Given the description of an element on the screen output the (x, y) to click on. 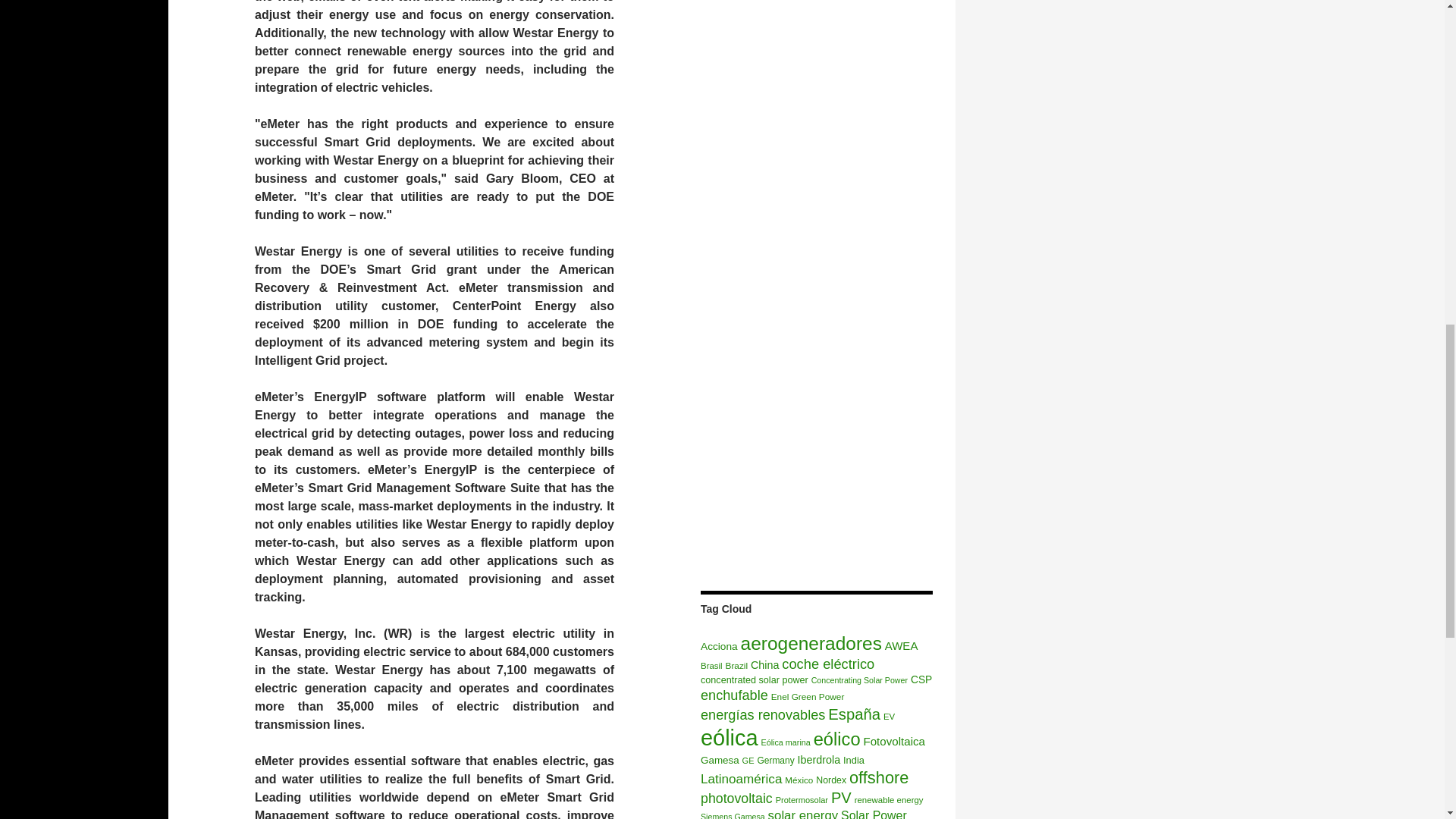
aerogeneradores (811, 643)
Brasil (711, 665)
AWEA (901, 645)
Acciona (719, 645)
